Given the description of an element on the screen output the (x, y) to click on. 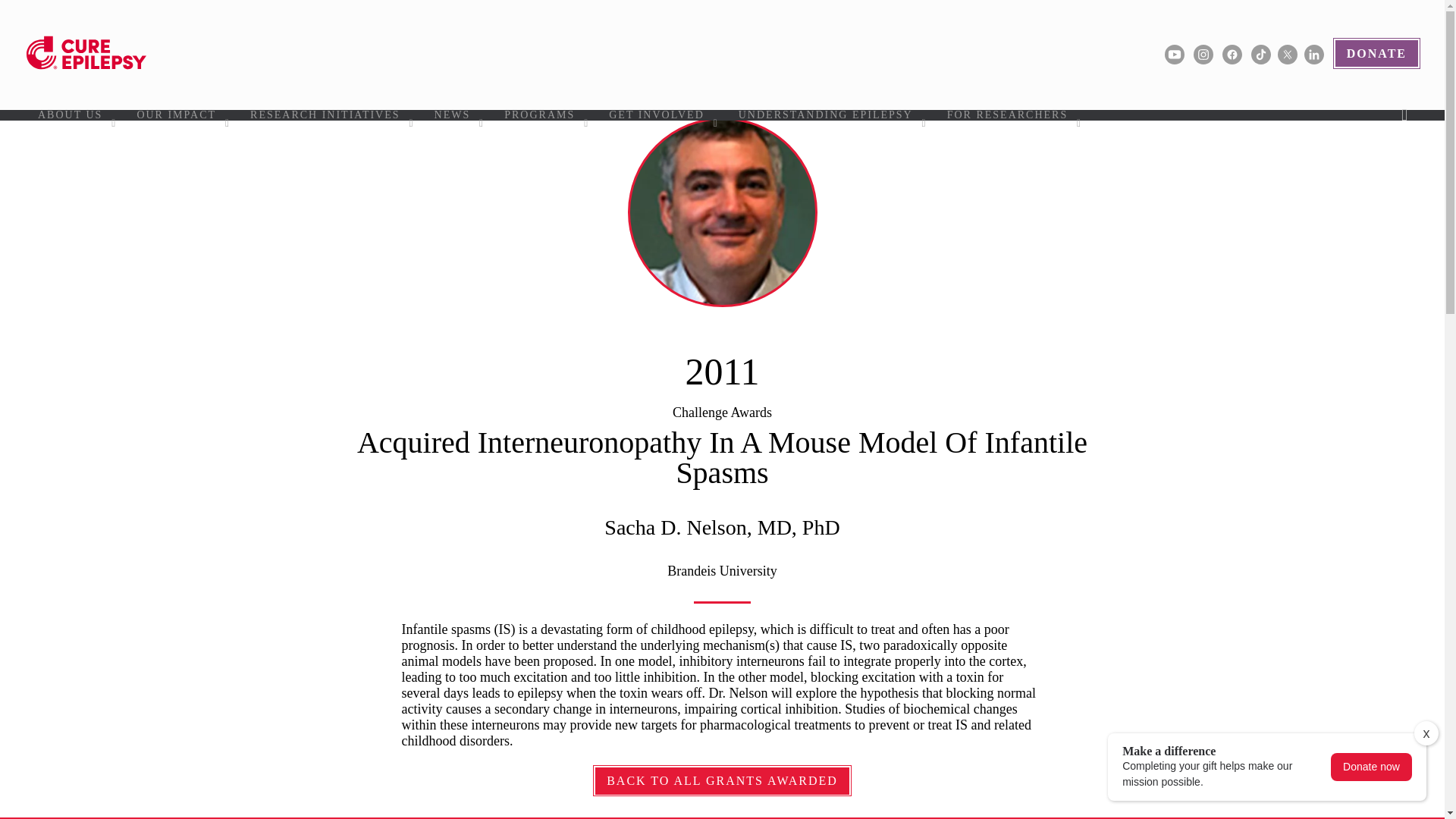
DONATE (1376, 53)
ABOUT US (75, 114)
NEWS (458, 114)
PROGRAMS (544, 114)
OUR IMPACT (181, 114)
RESEARCH INITIATIVES (330, 114)
